Given the description of an element on the screen output the (x, y) to click on. 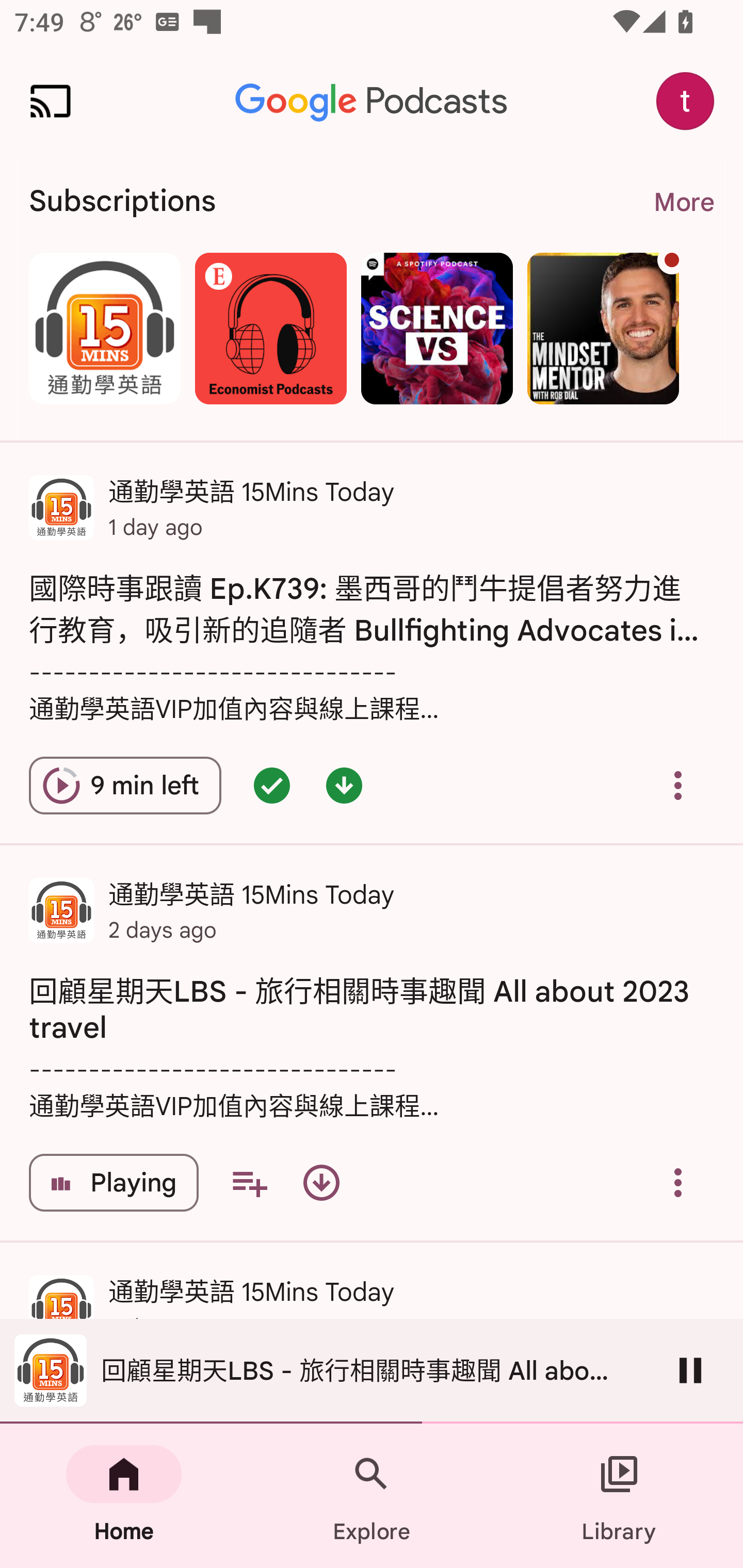
Cast. Disconnected (50, 101)
More More. Navigate to subscriptions page. (683, 202)
通勤學英語 15Mins Today (104, 328)
Economist Podcasts (270, 328)
Science Vs (436, 328)
The Mindset Mentor (603, 328)
Episode queued - double tap for options (271, 785)
Episode downloaded - double tap for options (344, 785)
Overflow menu (677, 785)
Add to your queue (249, 1182)
Download episode (321, 1182)
Overflow menu (677, 1182)
Pause (690, 1370)
Explore (371, 1495)
Library (619, 1495)
